Given the description of an element on the screen output the (x, y) to click on. 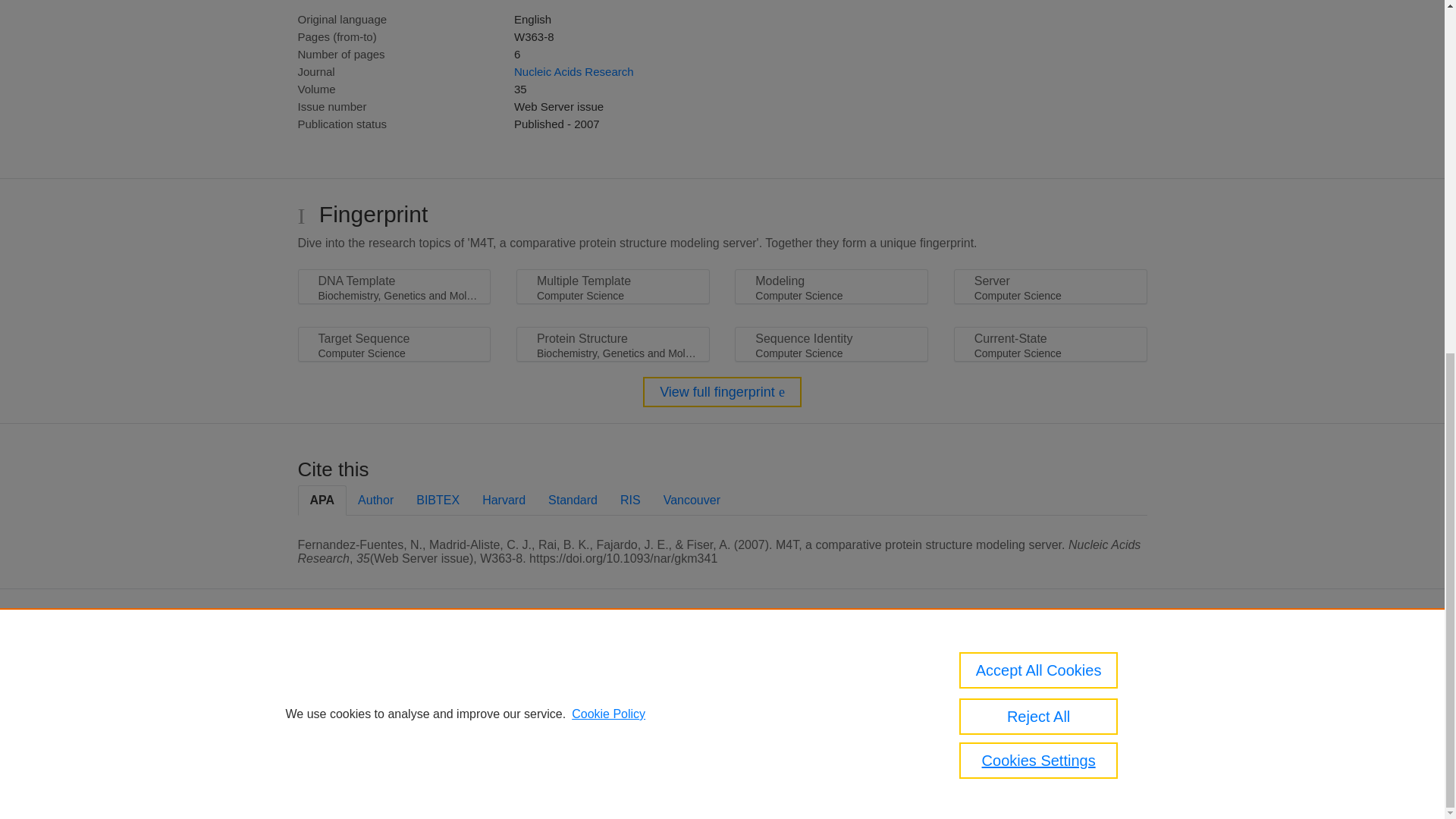
Nucleic Acids Research (573, 71)
View full fingerprint (722, 391)
